Given the description of an element on the screen output the (x, y) to click on. 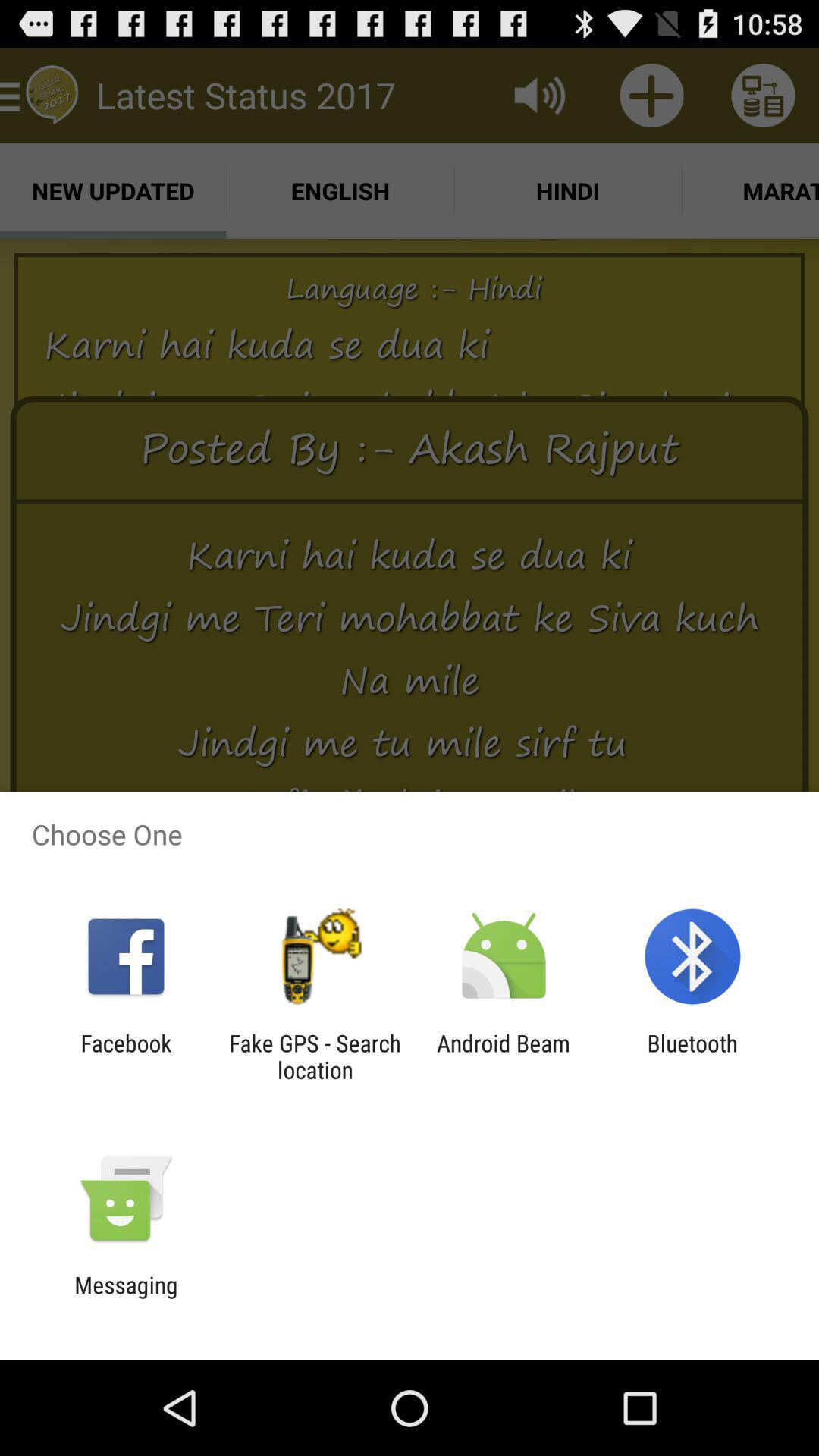
scroll until the facebook item (125, 1056)
